Given the description of an element on the screen output the (x, y) to click on. 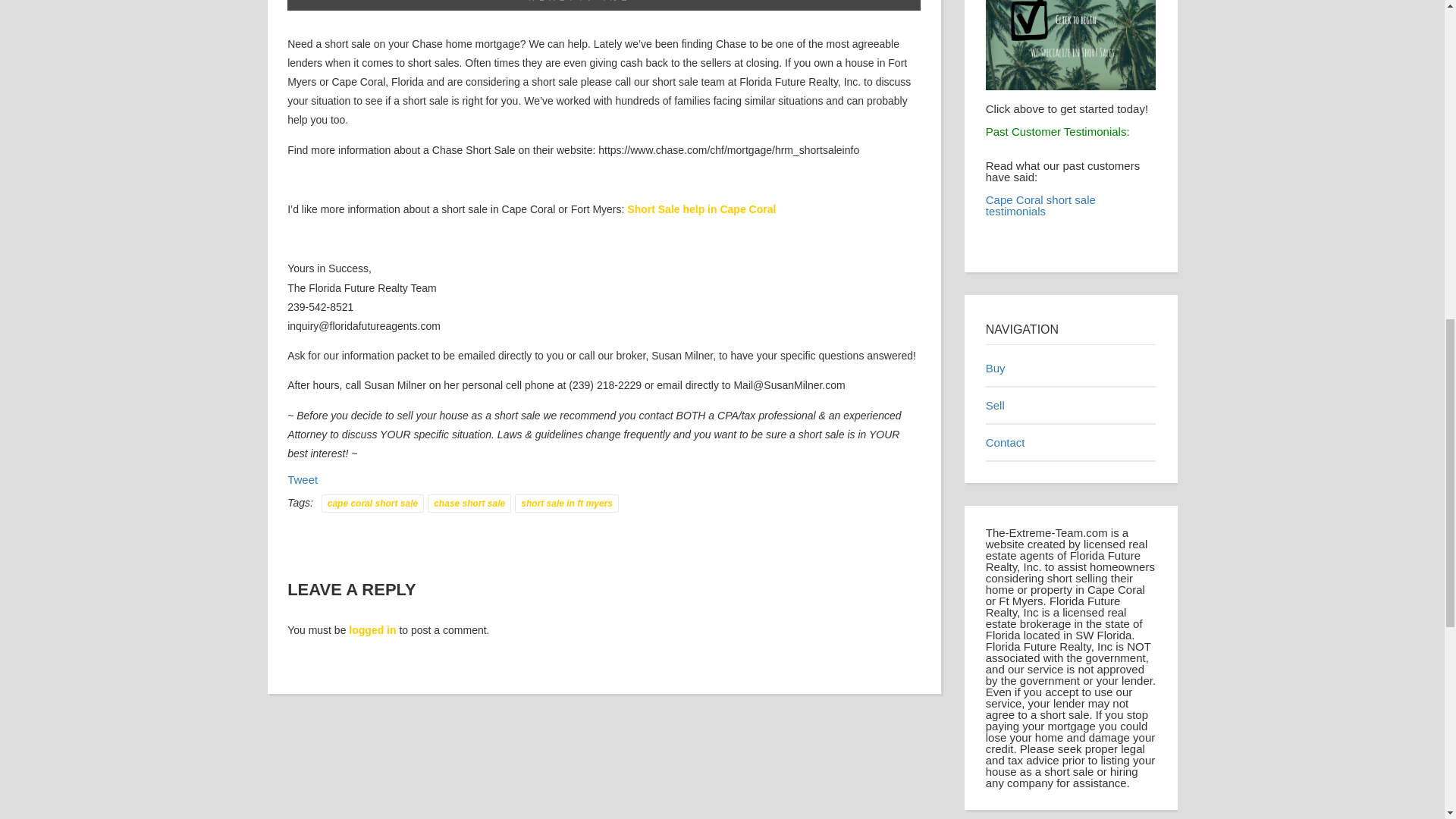
Sell (994, 404)
Buy (995, 367)
Short Sale help in Cape Coral (701, 209)
Cape Coral short sale testimonials (1040, 205)
Contact (1005, 441)
short sale in ft myers (566, 503)
Cape Coral short sale (701, 209)
chase short sale (469, 503)
cape coral short sale (372, 503)
Tweet (301, 479)
